Given the description of an element on the screen output the (x, y) to click on. 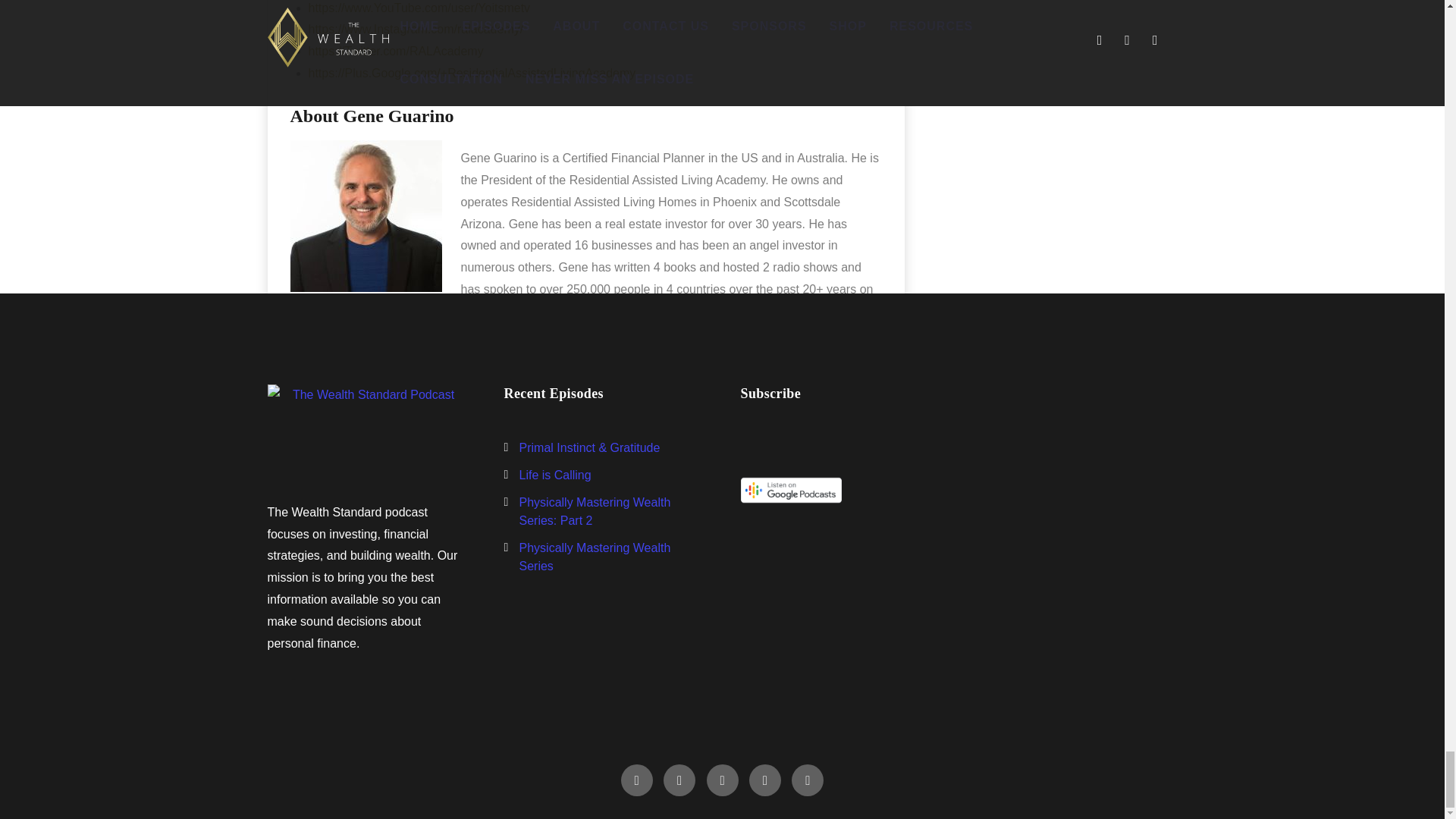
Instagram (722, 780)
Youtube (764, 780)
Facebook (636, 780)
RSS (808, 780)
Twitter (679, 780)
